Given the description of an element on the screen output the (x, y) to click on. 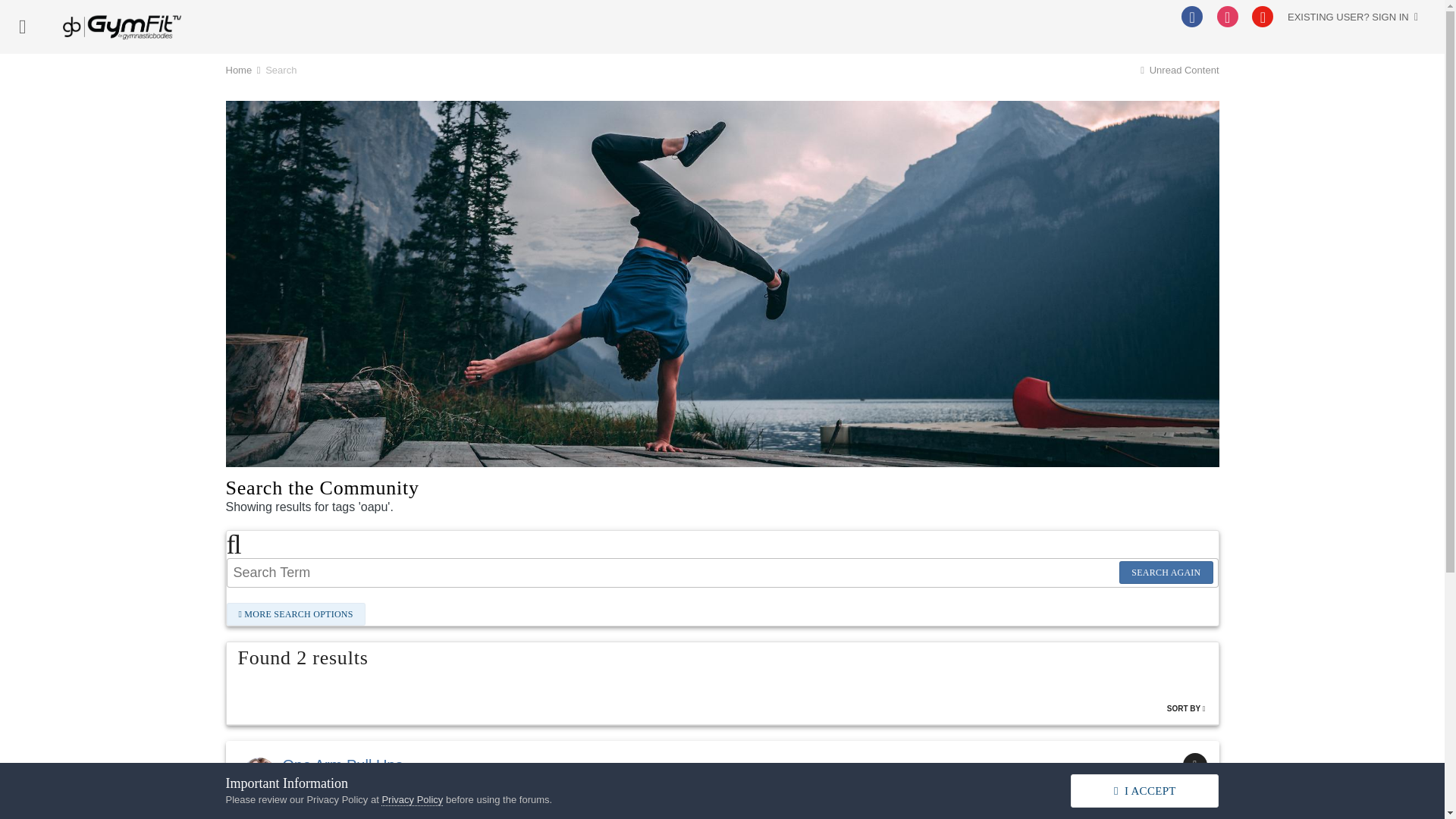
EXISTING USER? SIGN IN   (1352, 16)
Topic (1194, 764)
Home (244, 70)
Home (244, 70)
Search (280, 70)
Unread Content (1178, 70)
